Given the description of an element on the screen output the (x, y) to click on. 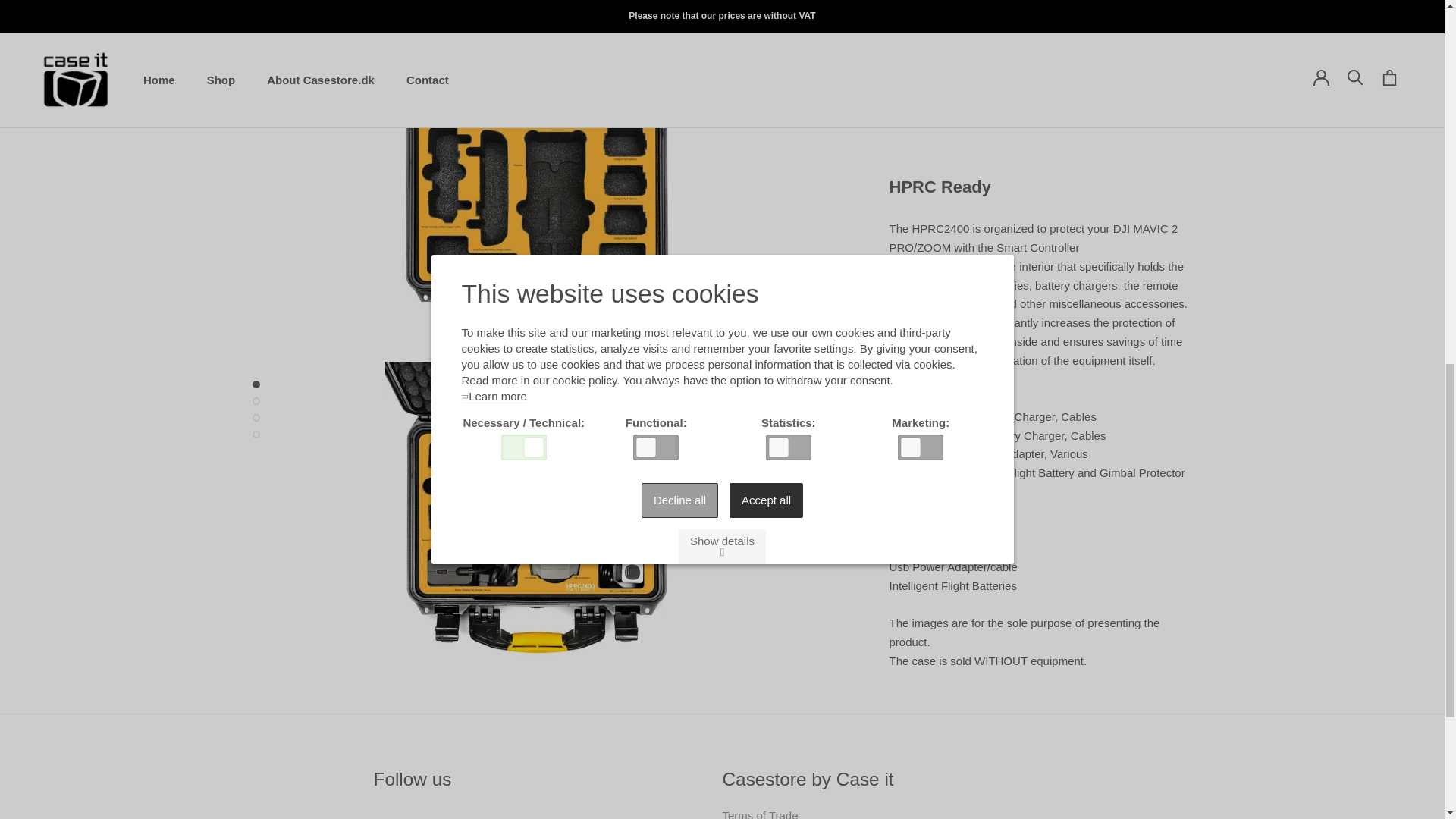
Facebook (379, 812)
Instagram (412, 812)
Terms of Trade (759, 814)
Linkedin (447, 812)
